Given the description of an element on the screen output the (x, y) to click on. 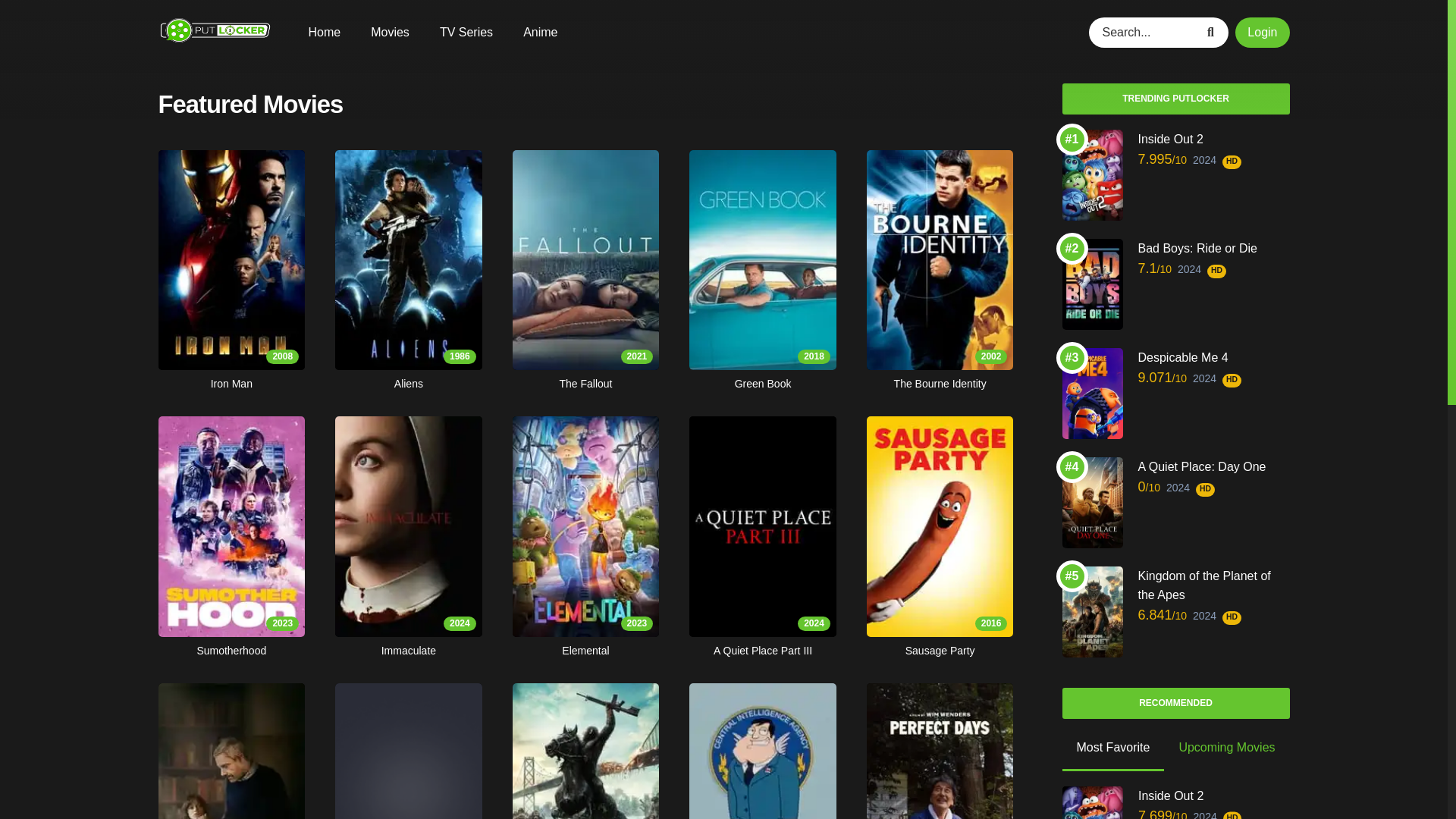
TV Series (466, 31)
Home (230, 751)
Search (939, 751)
Login (323, 31)
Anime (1213, 31)
Movies (407, 751)
